Given the description of an element on the screen output the (x, y) to click on. 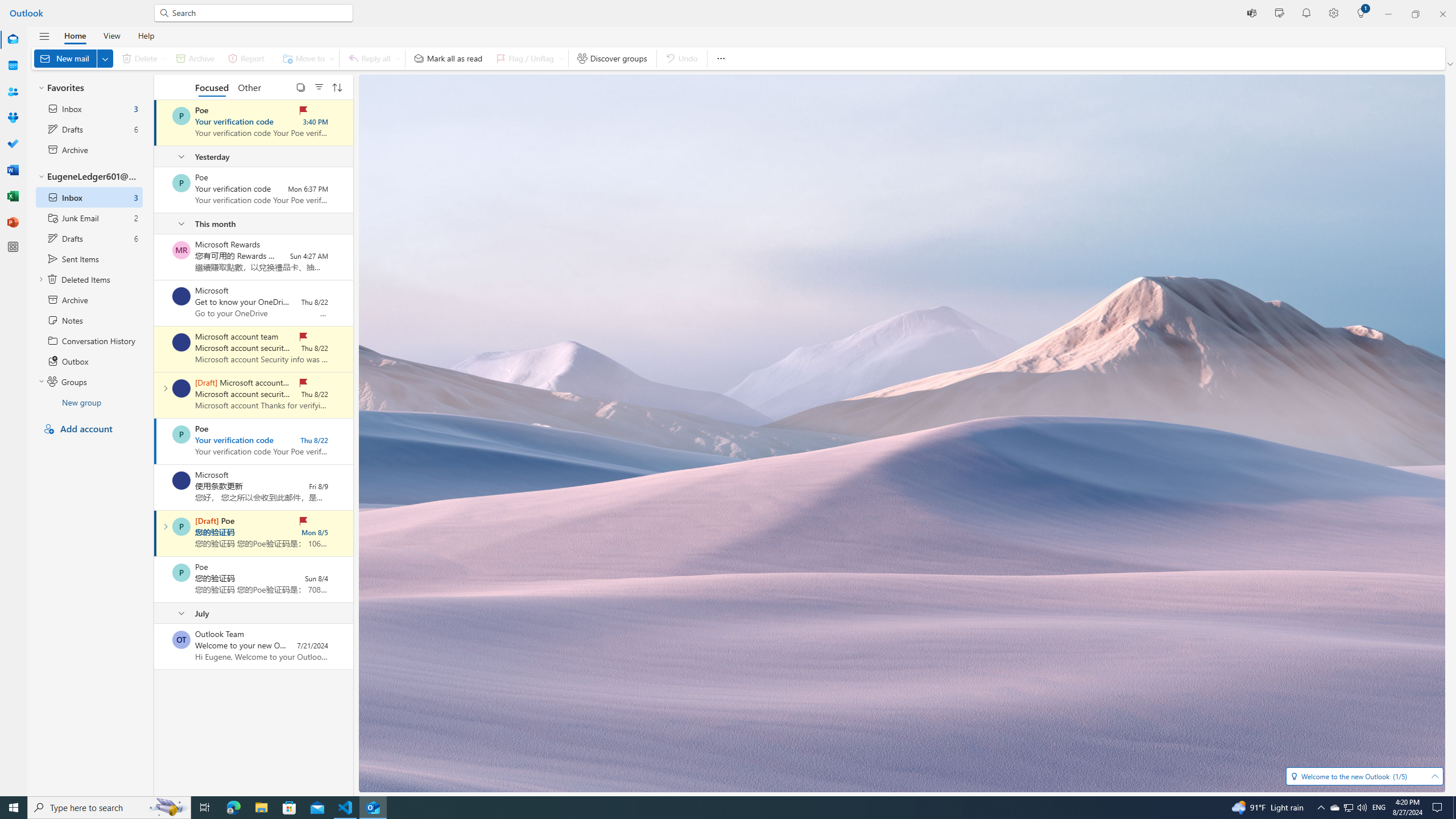
Select a conversation (180, 639)
Outbox (89, 360)
Hide navigation pane (44, 36)
New mail (73, 58)
More options (720, 58)
System (6, 6)
Mark all as read (448, 58)
To Do (12, 143)
Expand to see more respond options (398, 58)
